Given the description of an element on the screen output the (x, y) to click on. 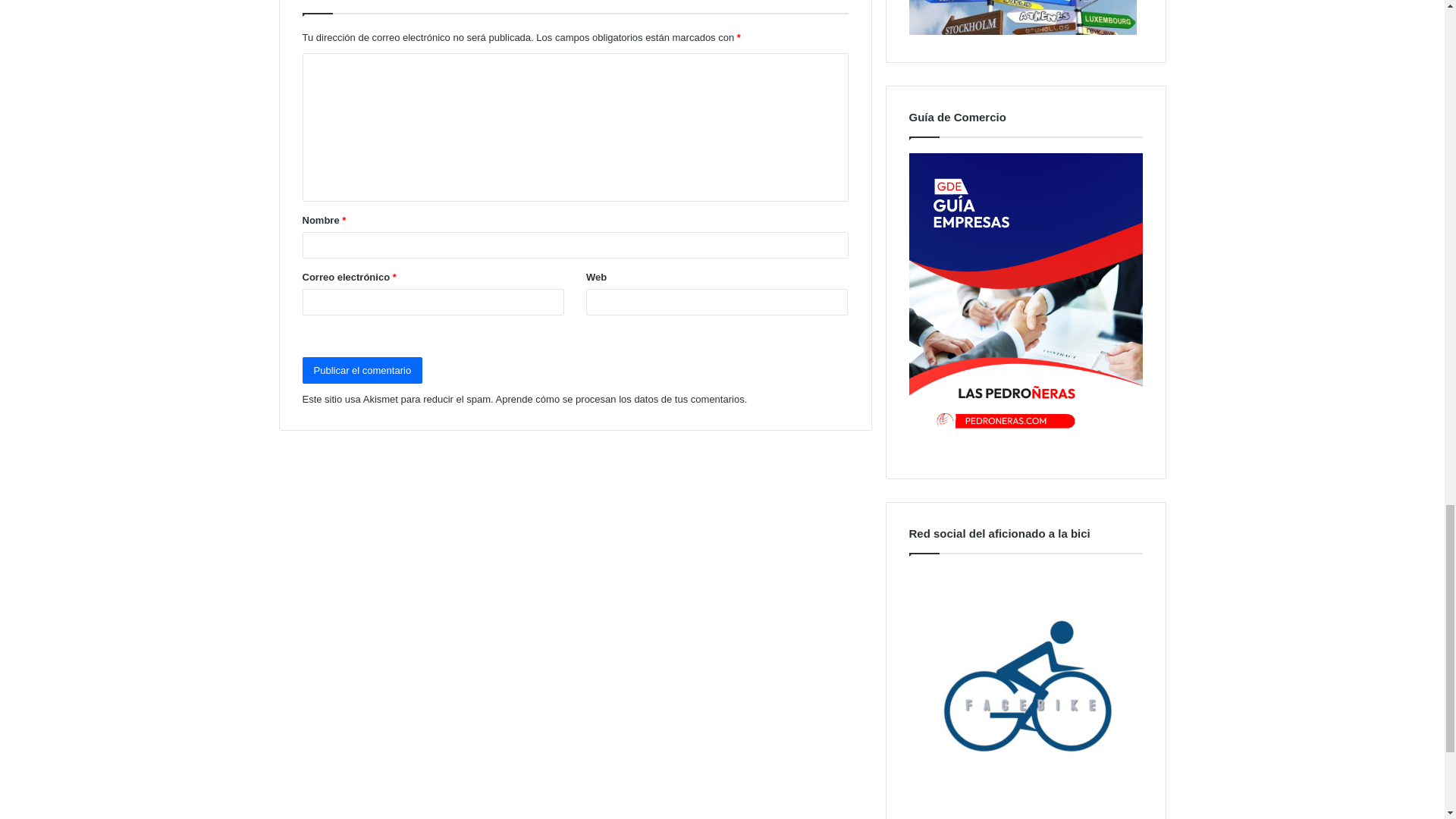
Publicar el comentario (361, 370)
Publicar el comentario (361, 370)
